Given the description of an element on the screen output the (x, y) to click on. 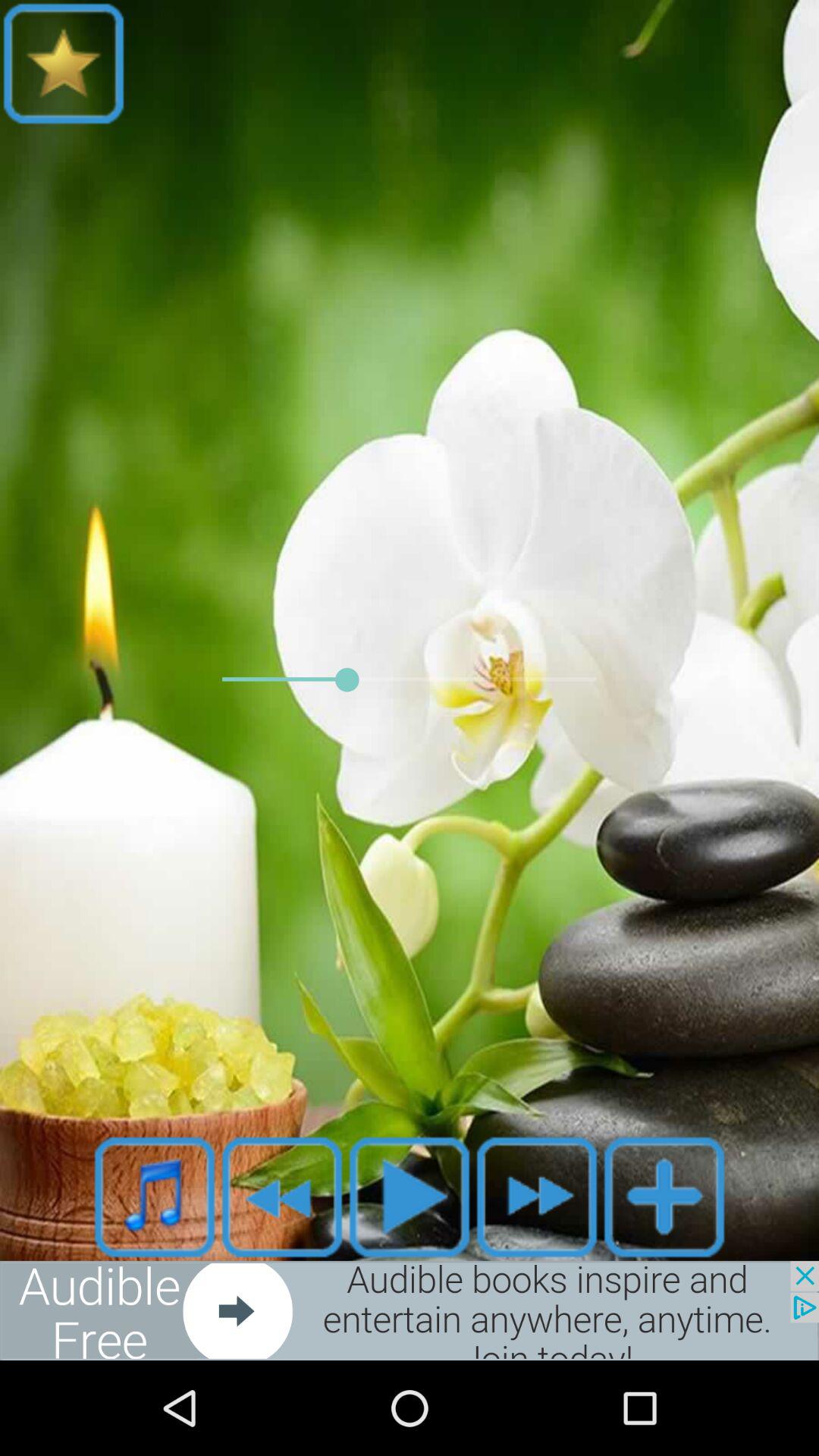
rewind (281, 1196)
